Given the description of an element on the screen output the (x, y) to click on. 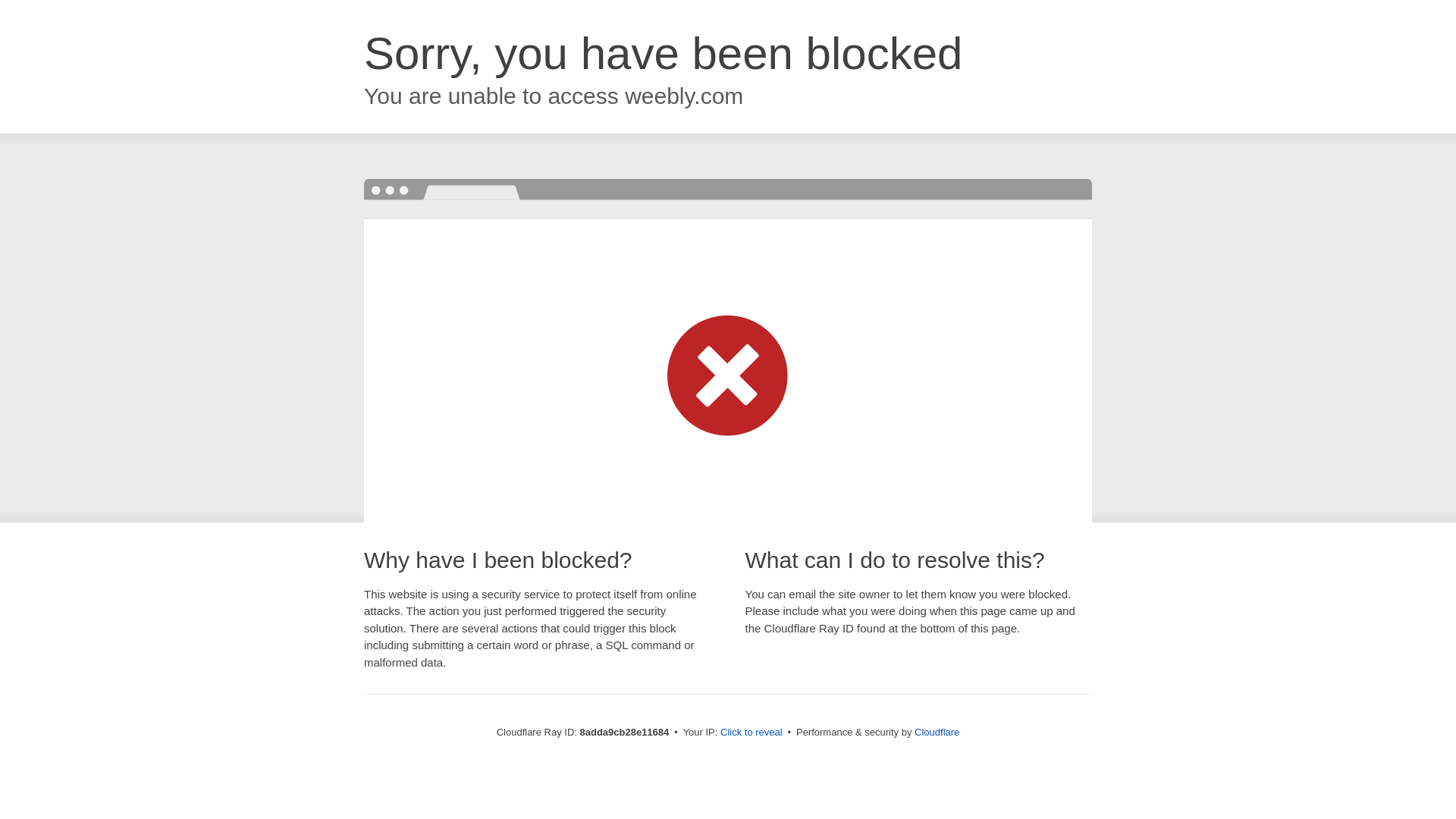
Click to reveal (751, 732)
Cloudflare (936, 731)
